Given the description of an element on the screen output the (x, y) to click on. 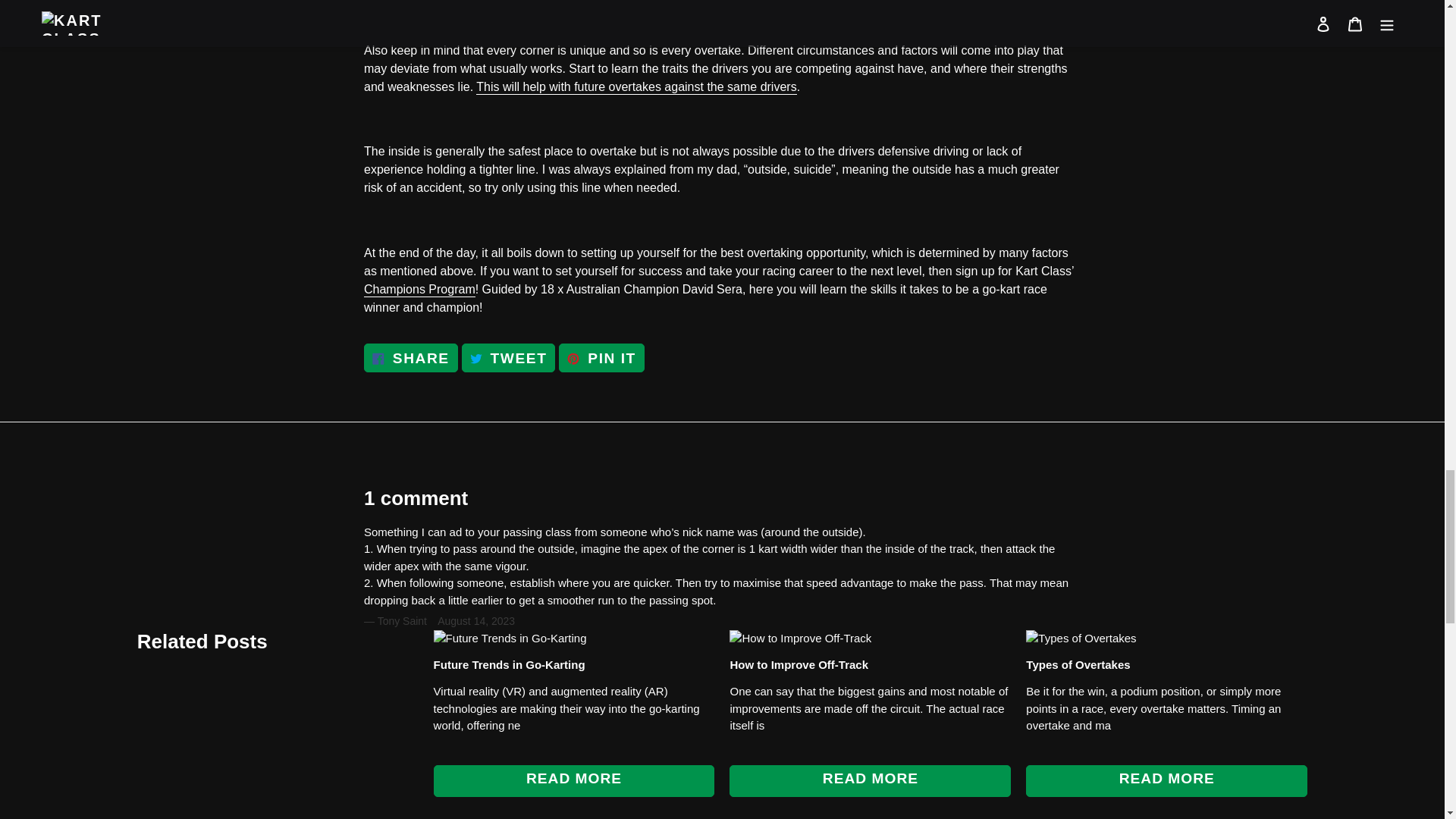
Champions Program (420, 289)
READ MORE (869, 780)
Types of Overtakes (411, 358)
Future Trends in Go-Karting (1077, 664)
How to Improve Off-Track (509, 664)
READ MORE (798, 664)
